Given the description of an element on the screen output the (x, y) to click on. 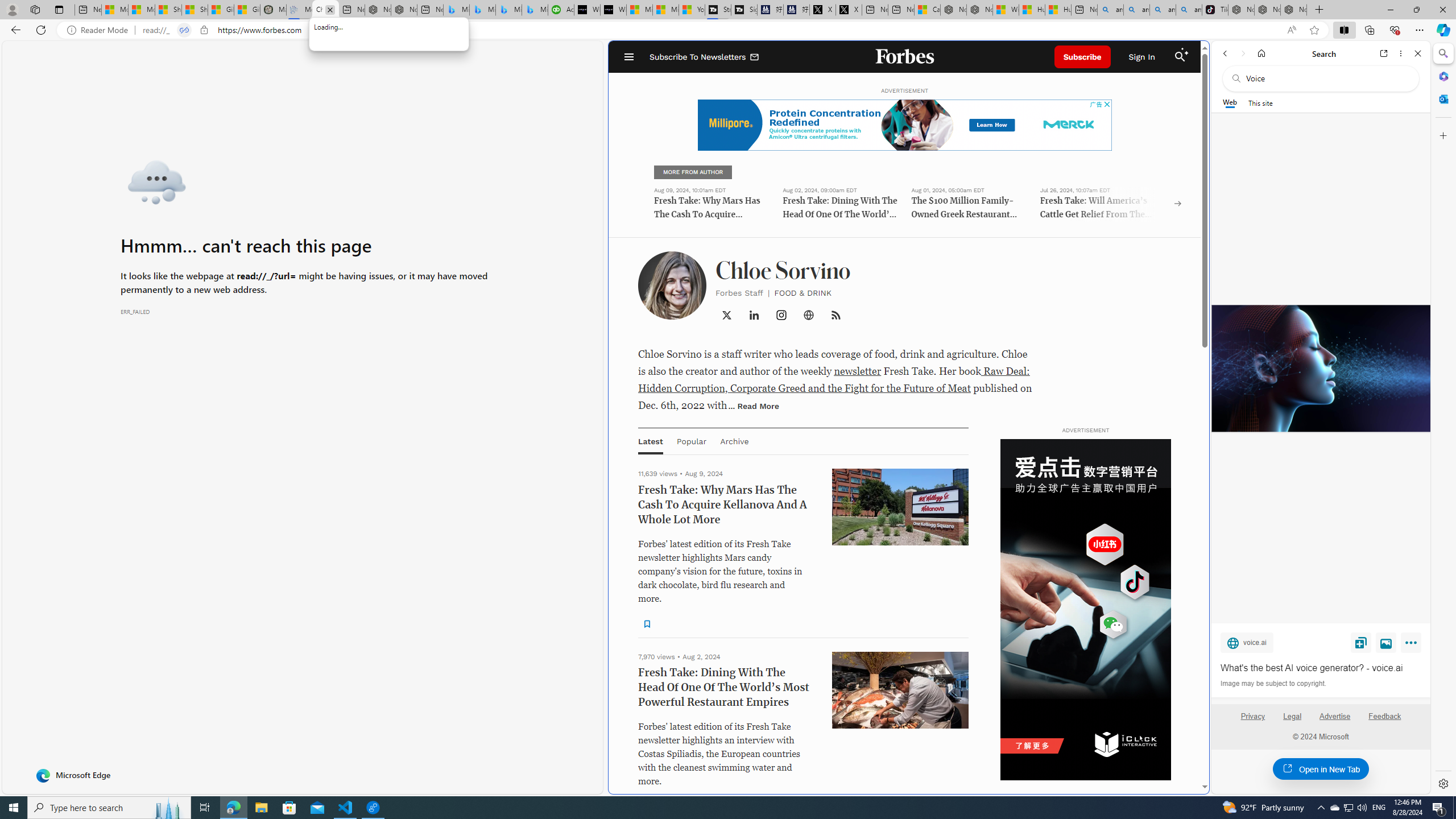
voice.ai (1247, 642)
Class: sElHJWe4 NQX0jJYe (646, 623)
What's the best AI voice generator? - voice.ai (613, 9)
Advertise (1335, 715)
Class: search_svg__fs-icon search_svg__fs-icon--search (1179, 56)
Open Navigation Menu (628, 56)
What's the best AI voice generator? - voice.ai (1320, 667)
Web scope (1230, 102)
